Given the description of an element on the screen output the (x, y) to click on. 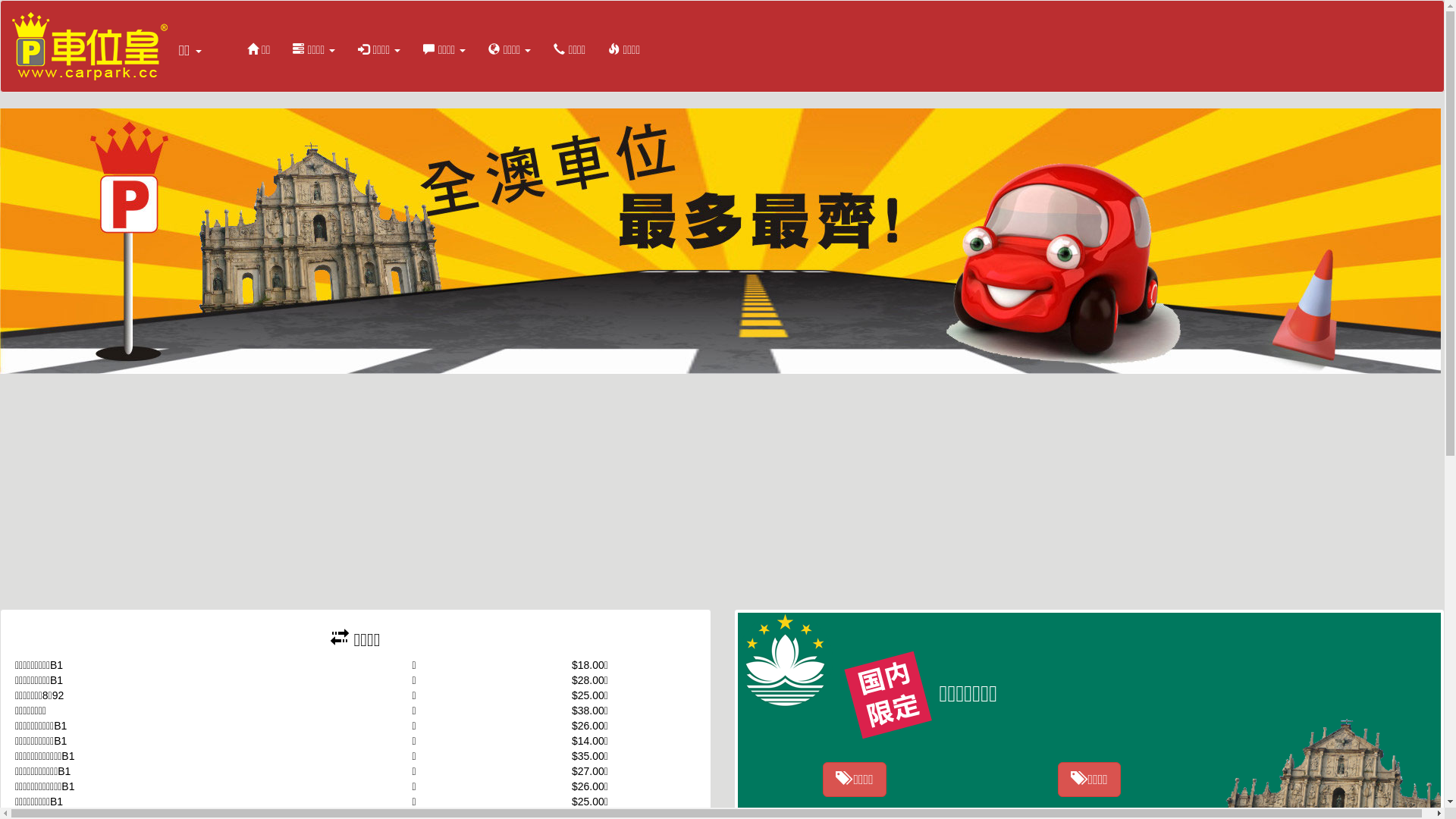
Advertisement Element type: hover (721, 495)
